Given the description of an element on the screen output the (x, y) to click on. 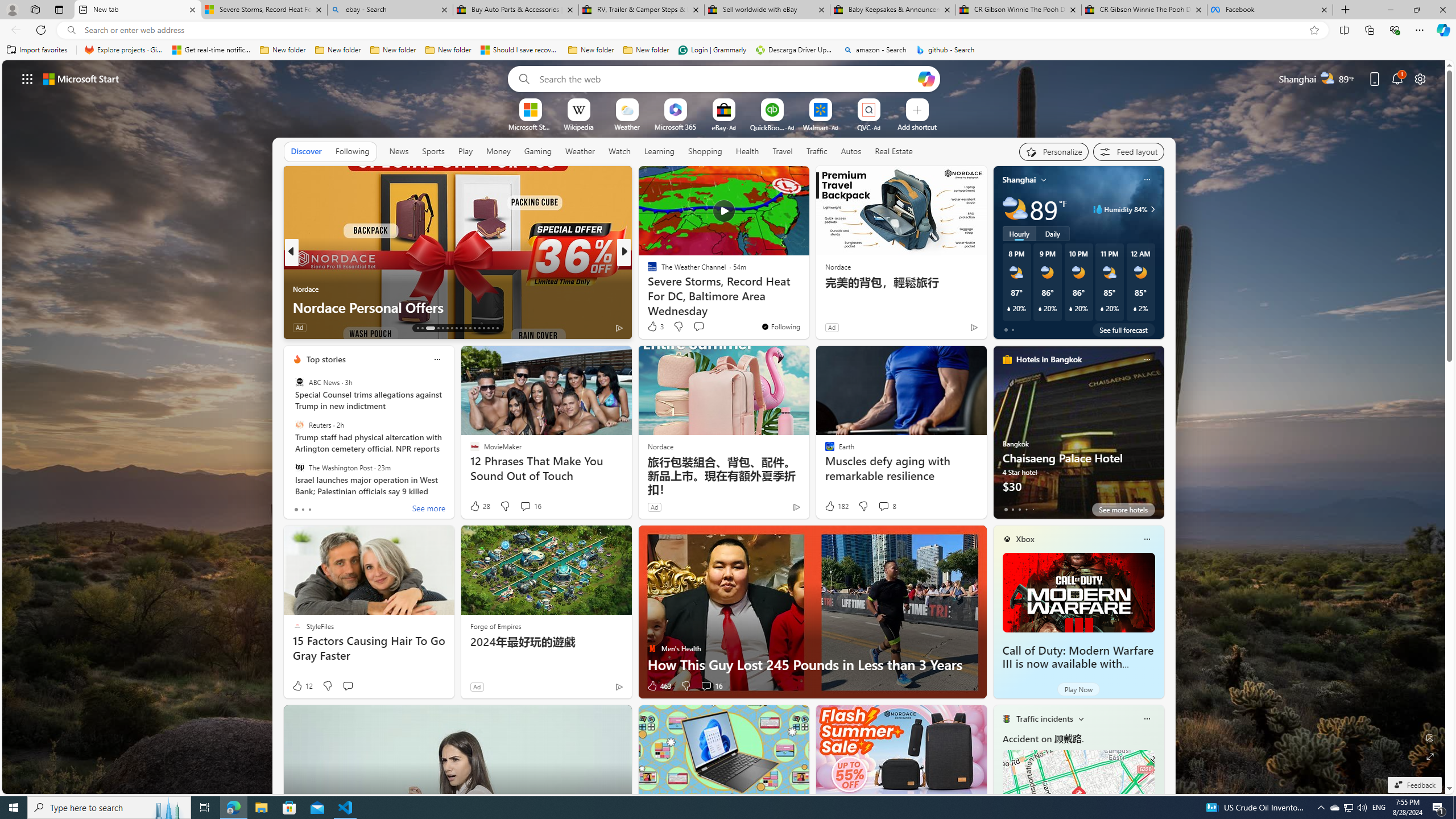
Class: weather-arrow-glyph (1152, 208)
Verywell Mind (647, 288)
hotels-header-icon (1006, 358)
Class: weather-current-precipitation-glyph (1134, 308)
32 Like (652, 327)
My location (1043, 179)
tab-2 (1019, 509)
Wikipedia (578, 126)
Descarga Driver Updater (794, 49)
AutomationID: tab-28 (492, 328)
